Given the description of an element on the screen output the (x, y) to click on. 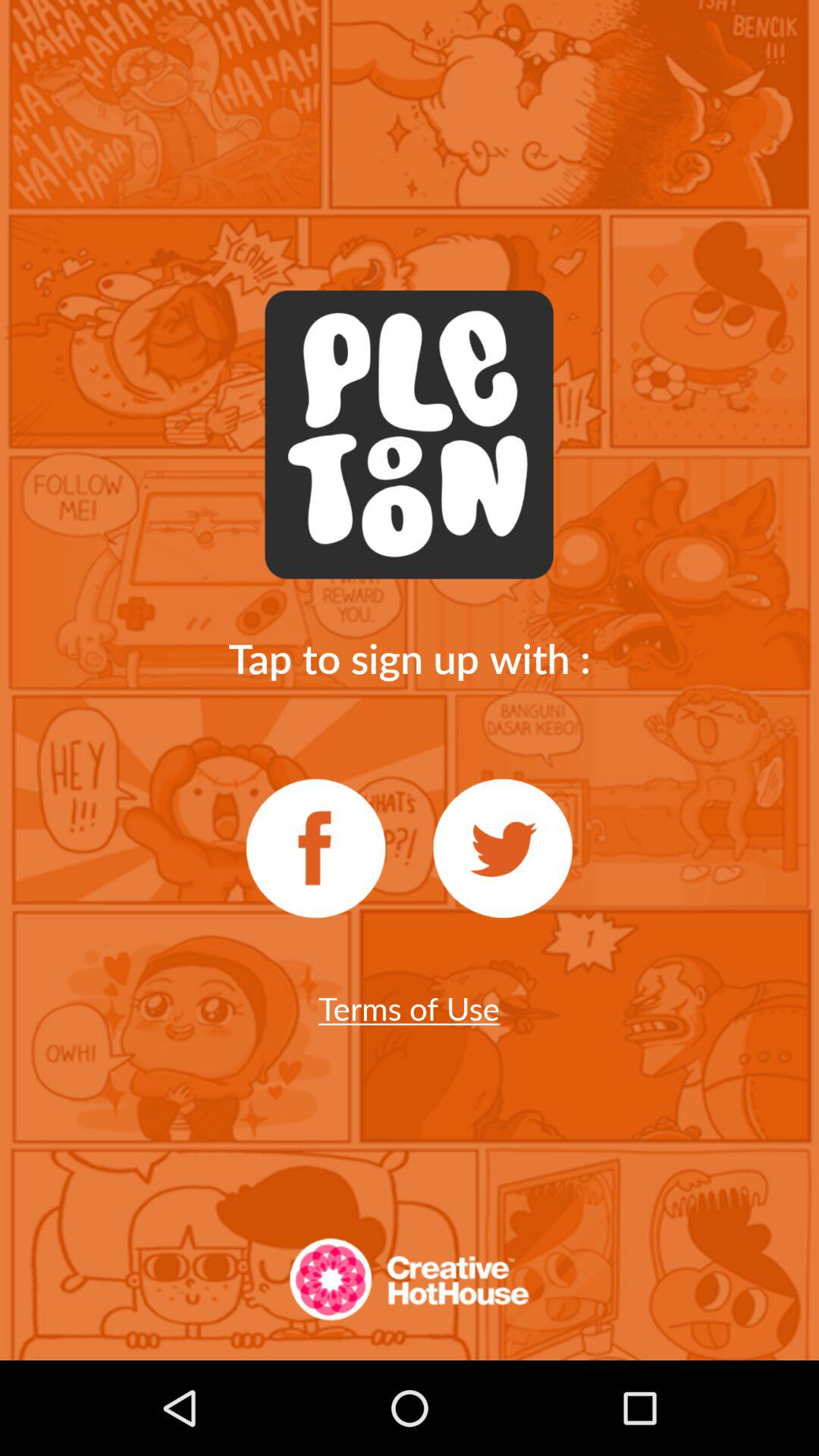
swtich autoplay option (315, 848)
